Given the description of an element on the screen output the (x, y) to click on. 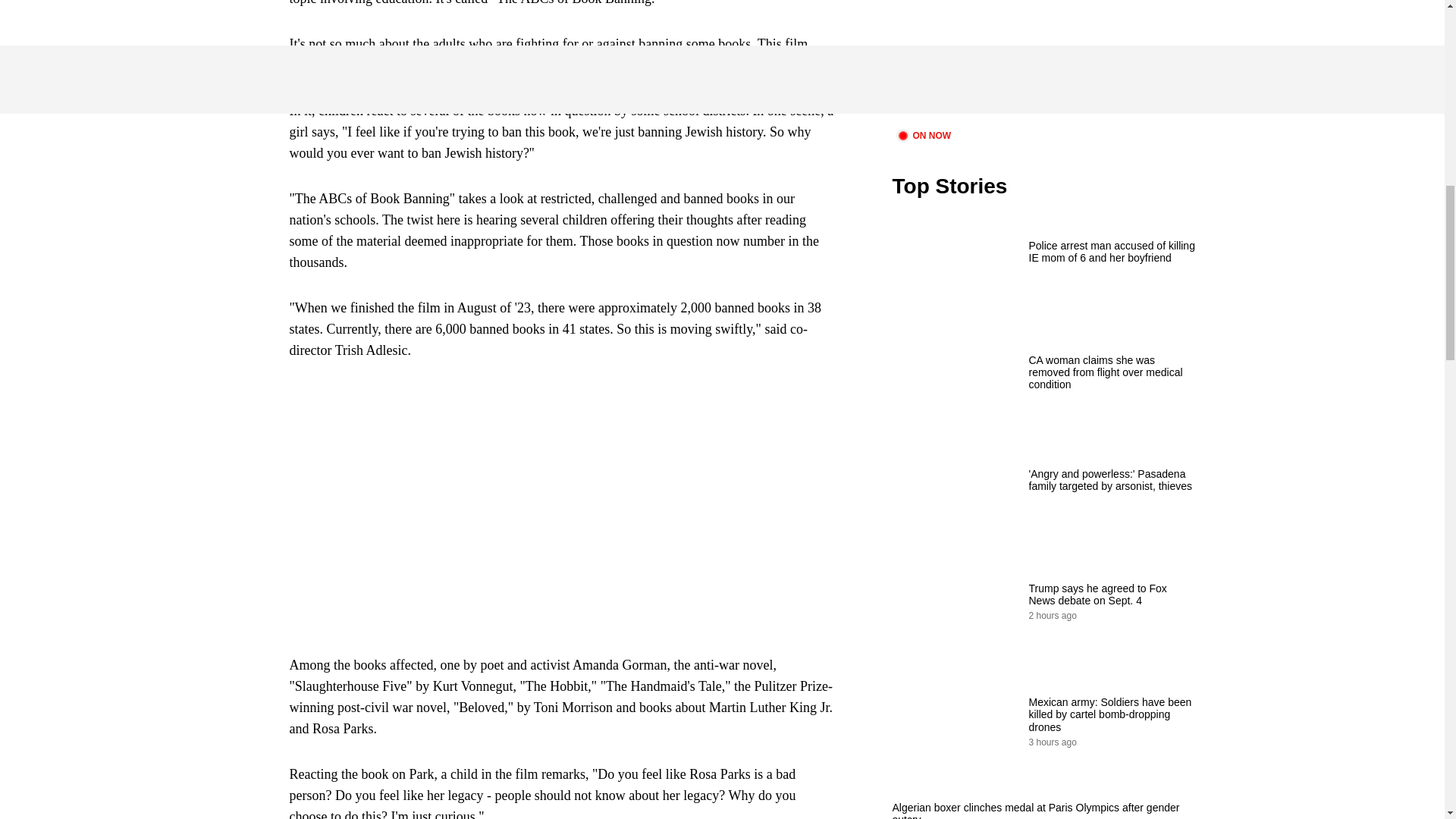
video.title (1043, 62)
